Given the description of an element on the screen output the (x, y) to click on. 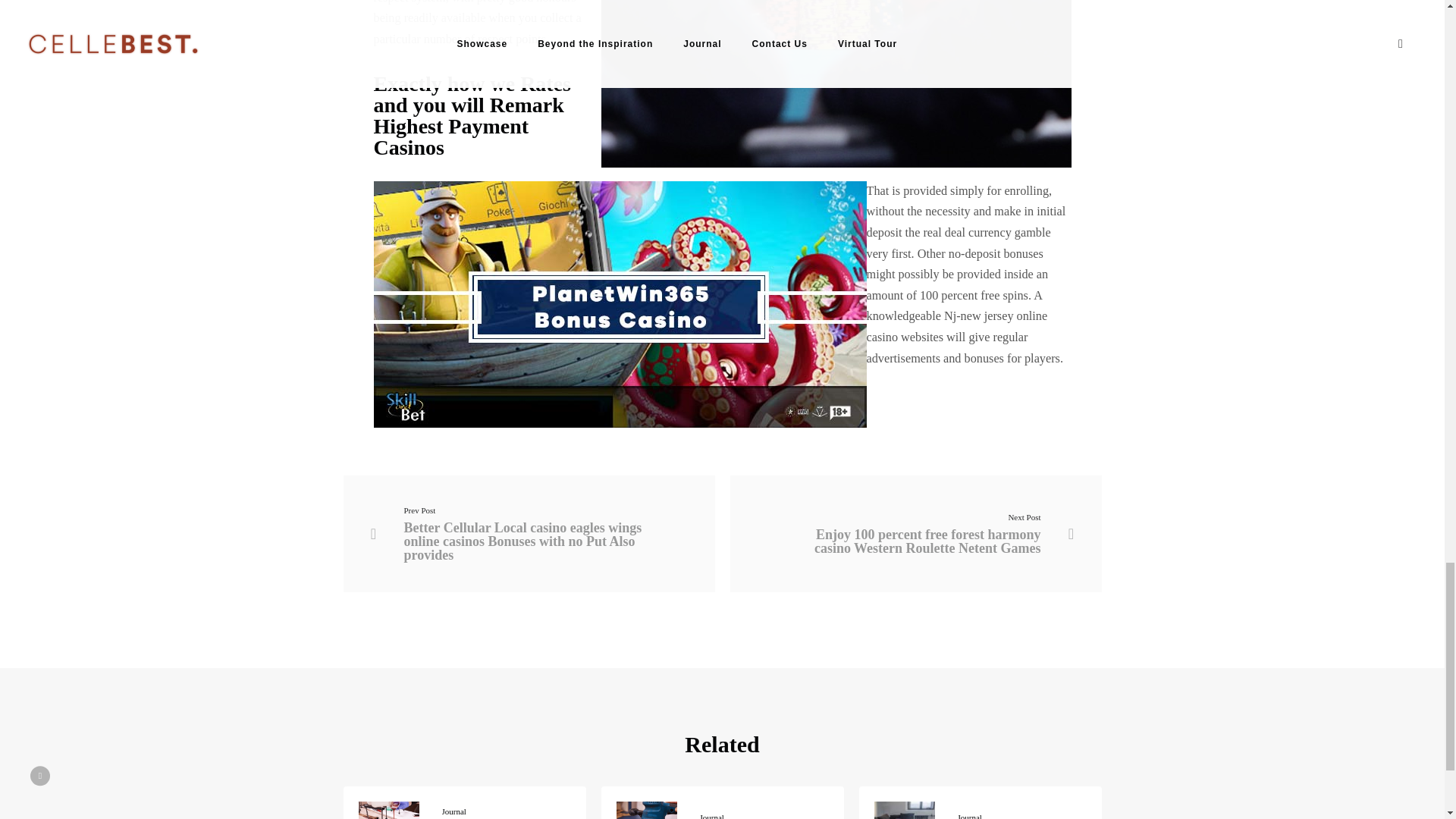
Journal (453, 811)
